Given the description of an element on the screen output the (x, y) to click on. 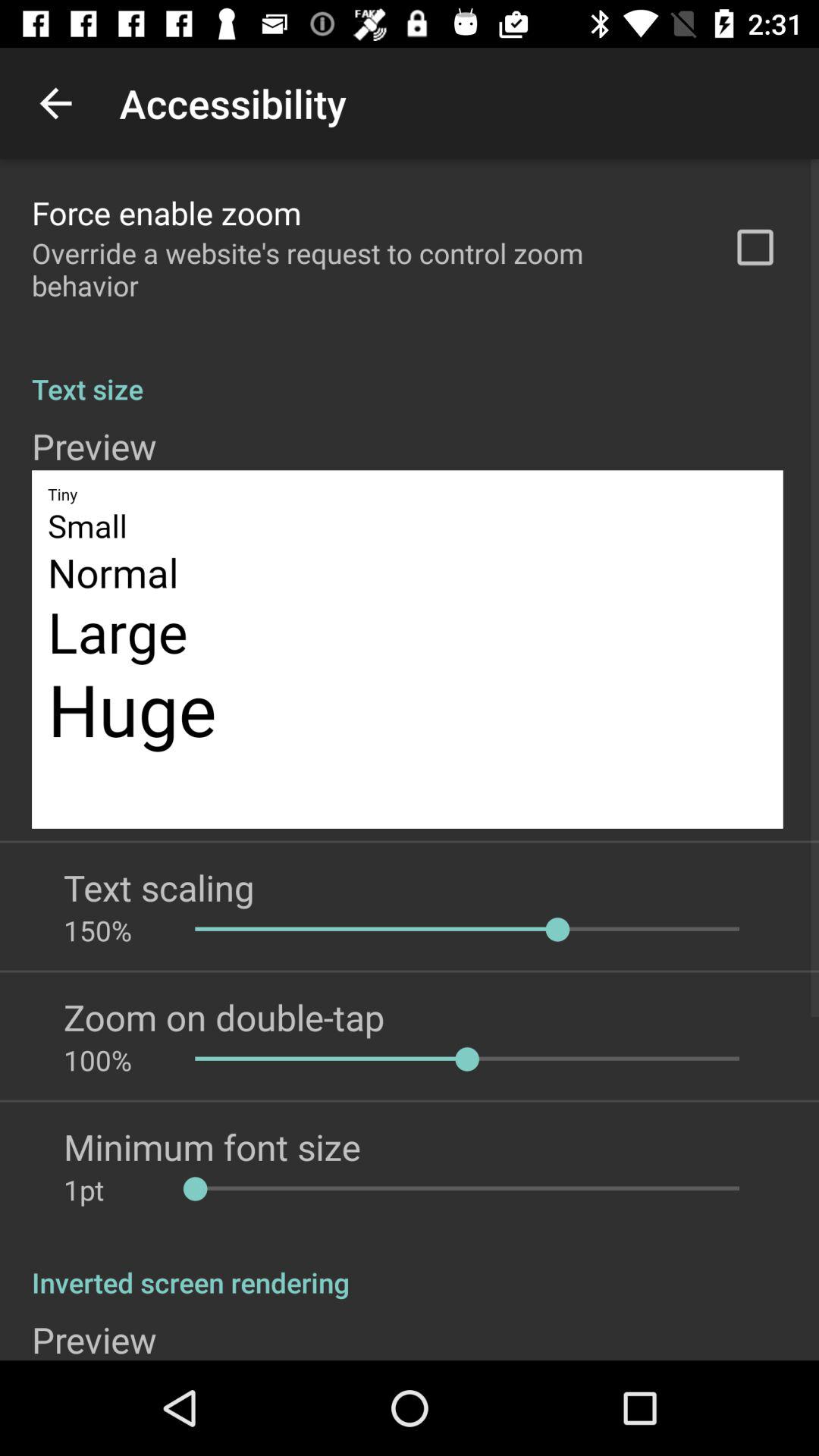
select the check box (755, 247)
